Given the description of an element on the screen output the (x, y) to click on. 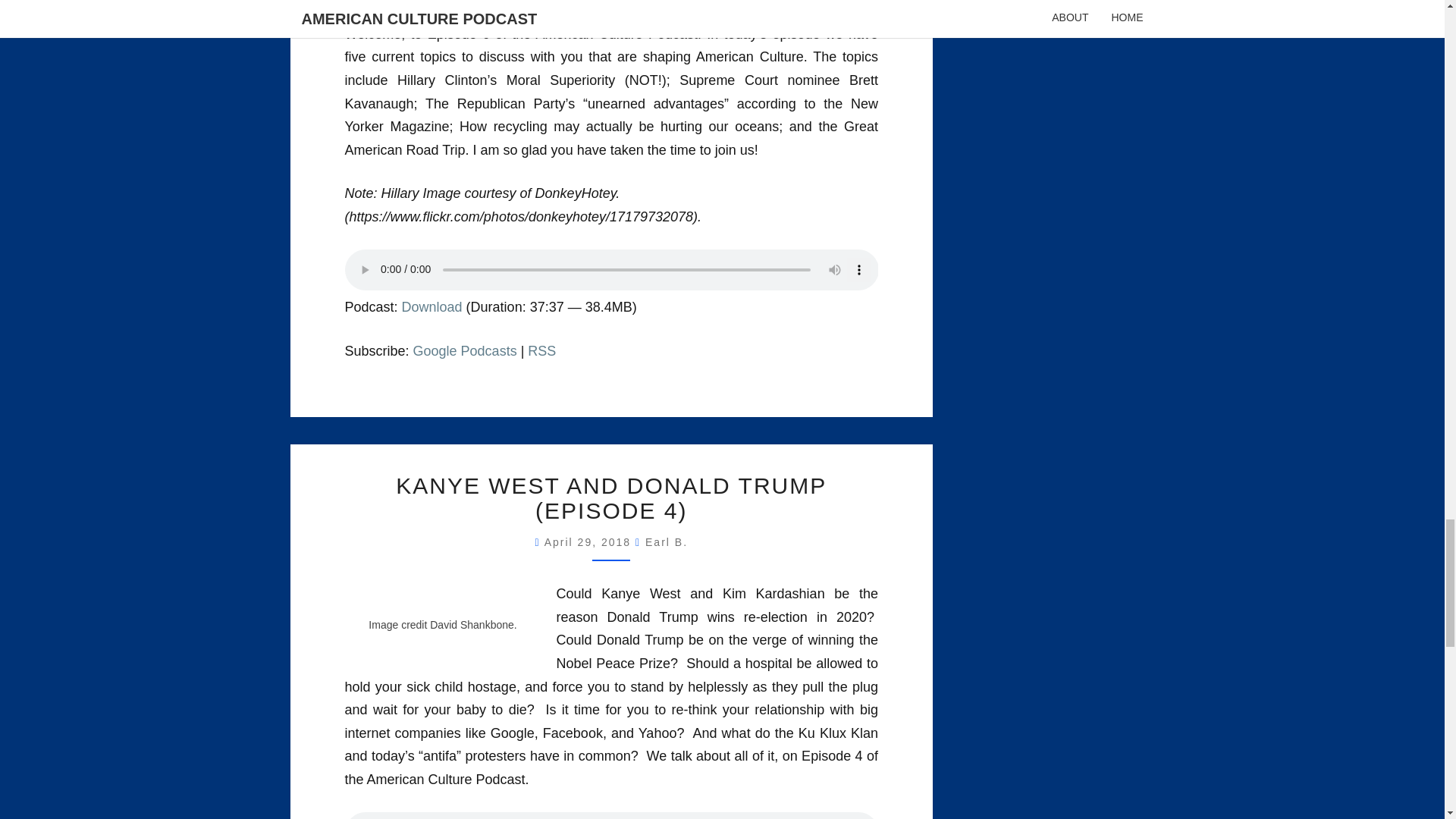
Google Podcasts (464, 350)
Earl B. (666, 541)
Download (432, 306)
April 29, 2018 (589, 541)
RSS (541, 350)
Download (432, 306)
